Given the description of an element on the screen output the (x, y) to click on. 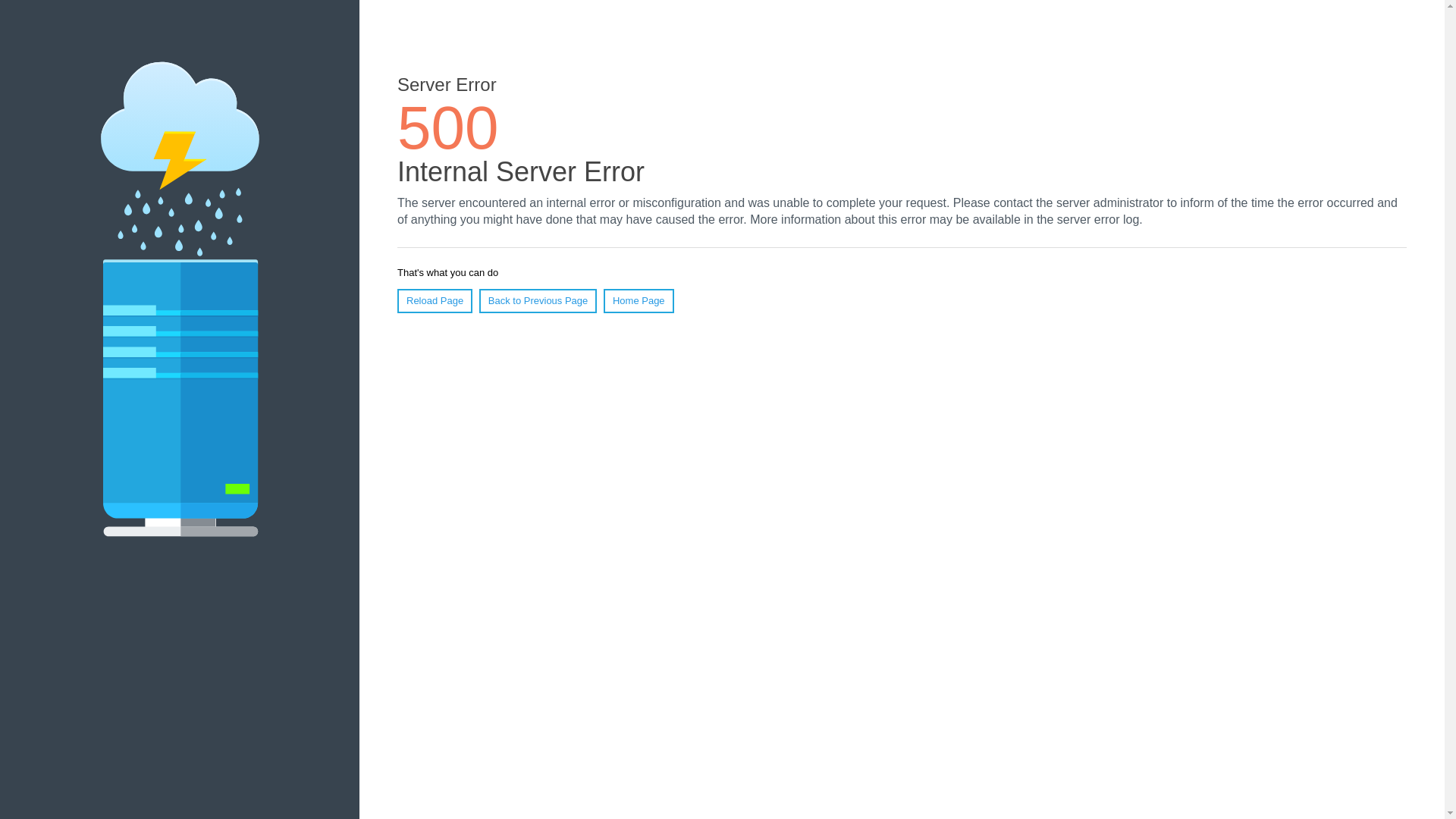
Back to Previous Page Element type: text (538, 300)
Reload Page Element type: text (434, 300)
Home Page Element type: text (638, 300)
